Given the description of an element on the screen output the (x, y) to click on. 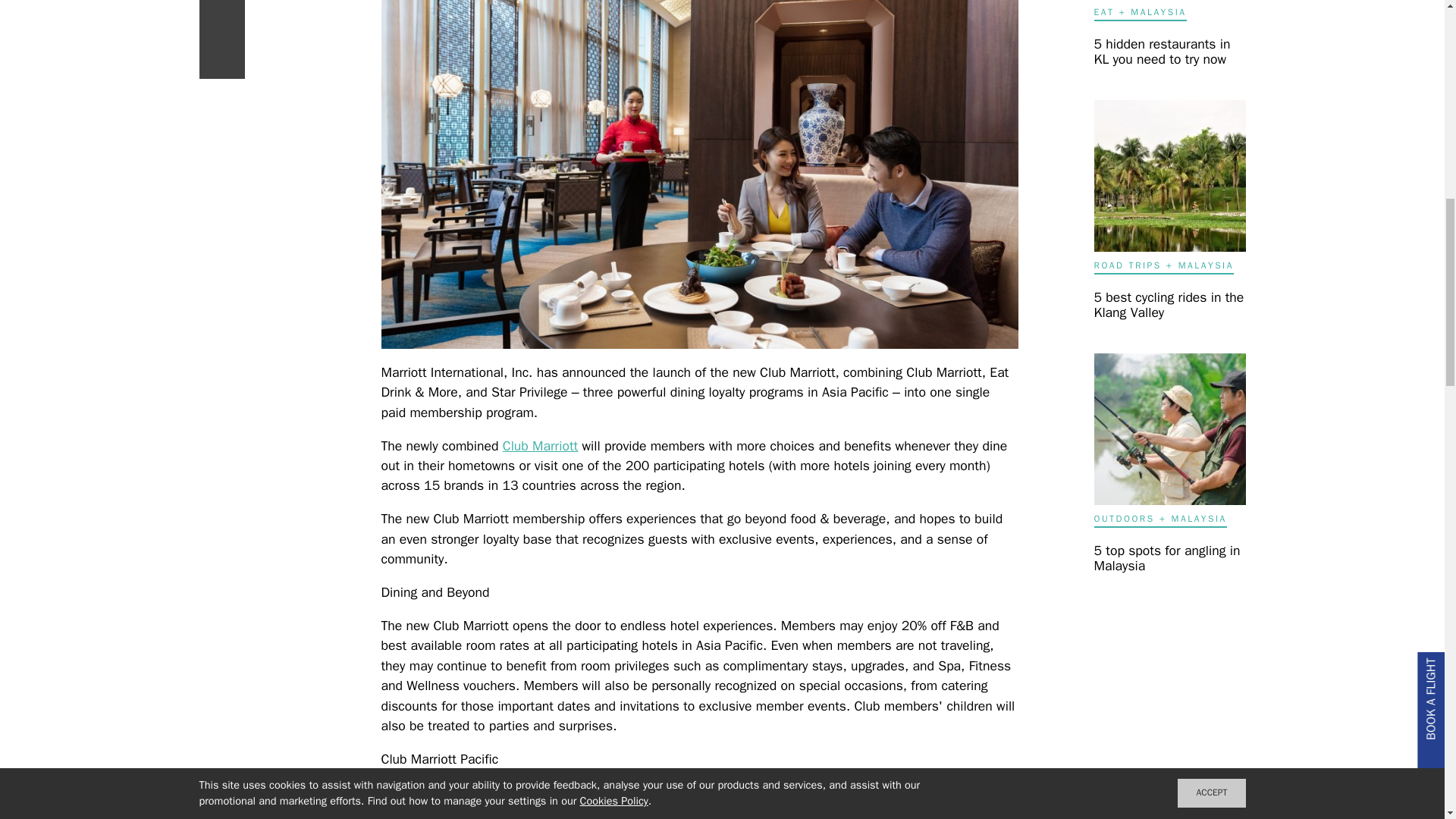
MALAYSIA (1205, 265)
5 top spots for angling in Malaysia (1166, 558)
MALAYSIA (1158, 11)
Club Marriott (540, 445)
MALAYSIA (1199, 518)
5 hidden restaurants in KL you need to try now (1161, 51)
OUTDOORS (1123, 518)
ROAD TRIPS (1126, 265)
EAT (1103, 11)
5 best cycling rides in the Klang Valley (1168, 305)
